Given the description of an element on the screen output the (x, y) to click on. 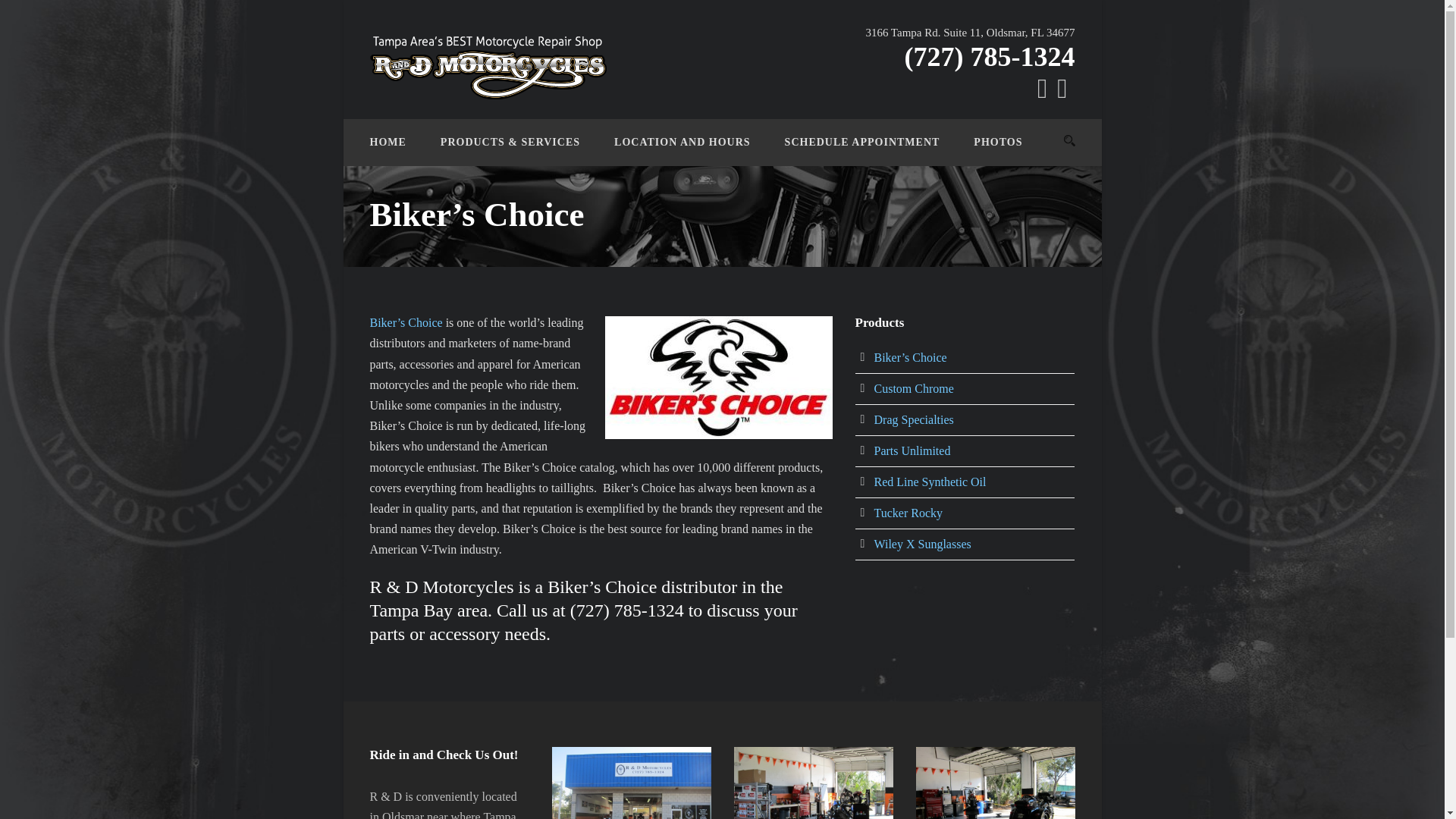
LOCATION AND HOURS (665, 149)
3166 Tampa Rd. Suite 11, Oldsmar, FL 34677 (969, 32)
Red Line Synthetic Oil (929, 481)
PHOTOS (980, 149)
SCHEDULE APPOINTMENT (845, 149)
Custom Chrome (913, 388)
Wiley X Sunglasses (922, 543)
Tucker Rocky (907, 512)
Drag Specialties (913, 419)
Parts Unlimited (911, 450)
